Given the description of an element on the screen output the (x, y) to click on. 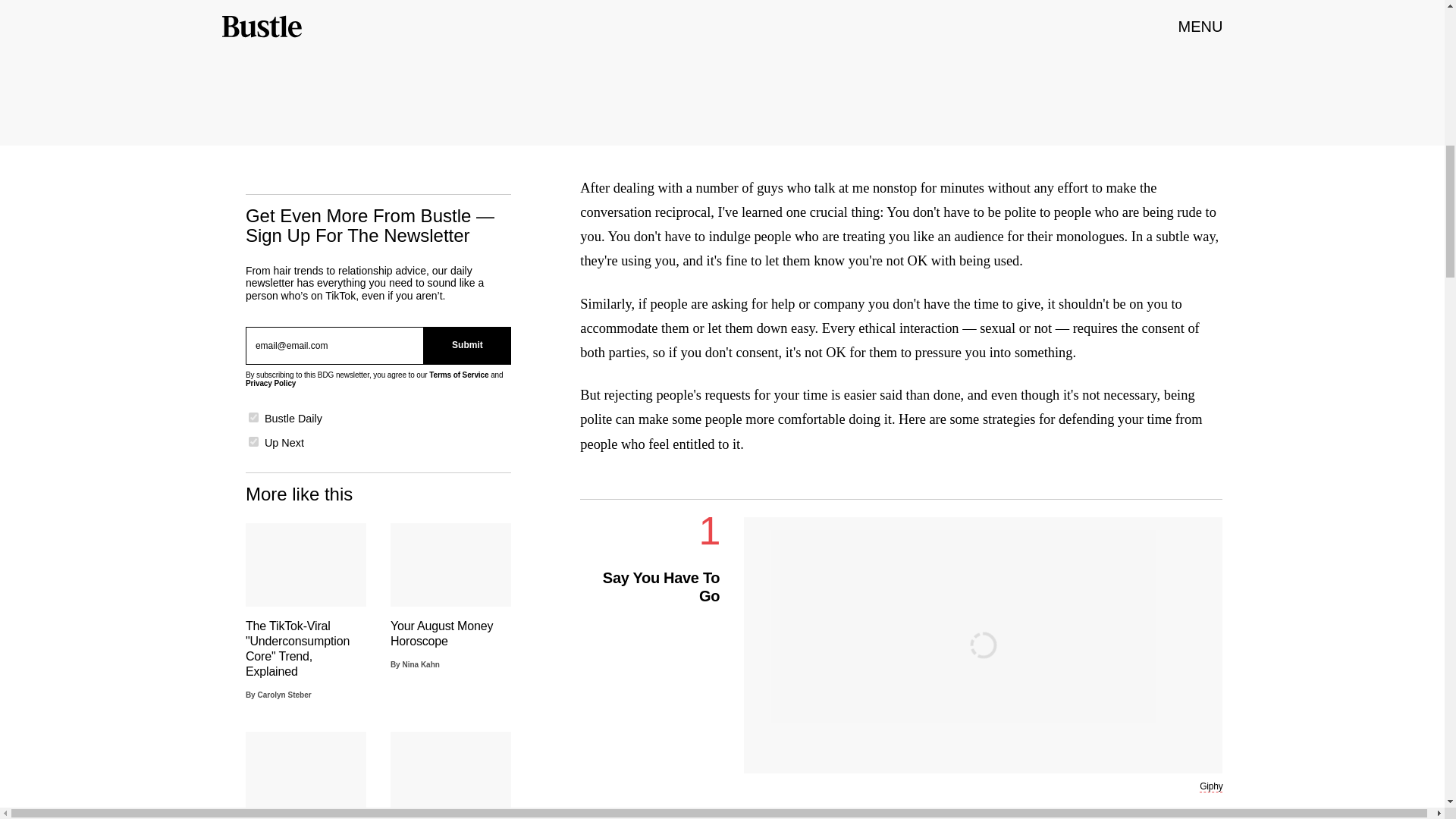
Giphy (1211, 786)
Terms of Service (458, 375)
Submit (467, 345)
Privacy Policy (270, 383)
